Given the description of an element on the screen output the (x, y) to click on. 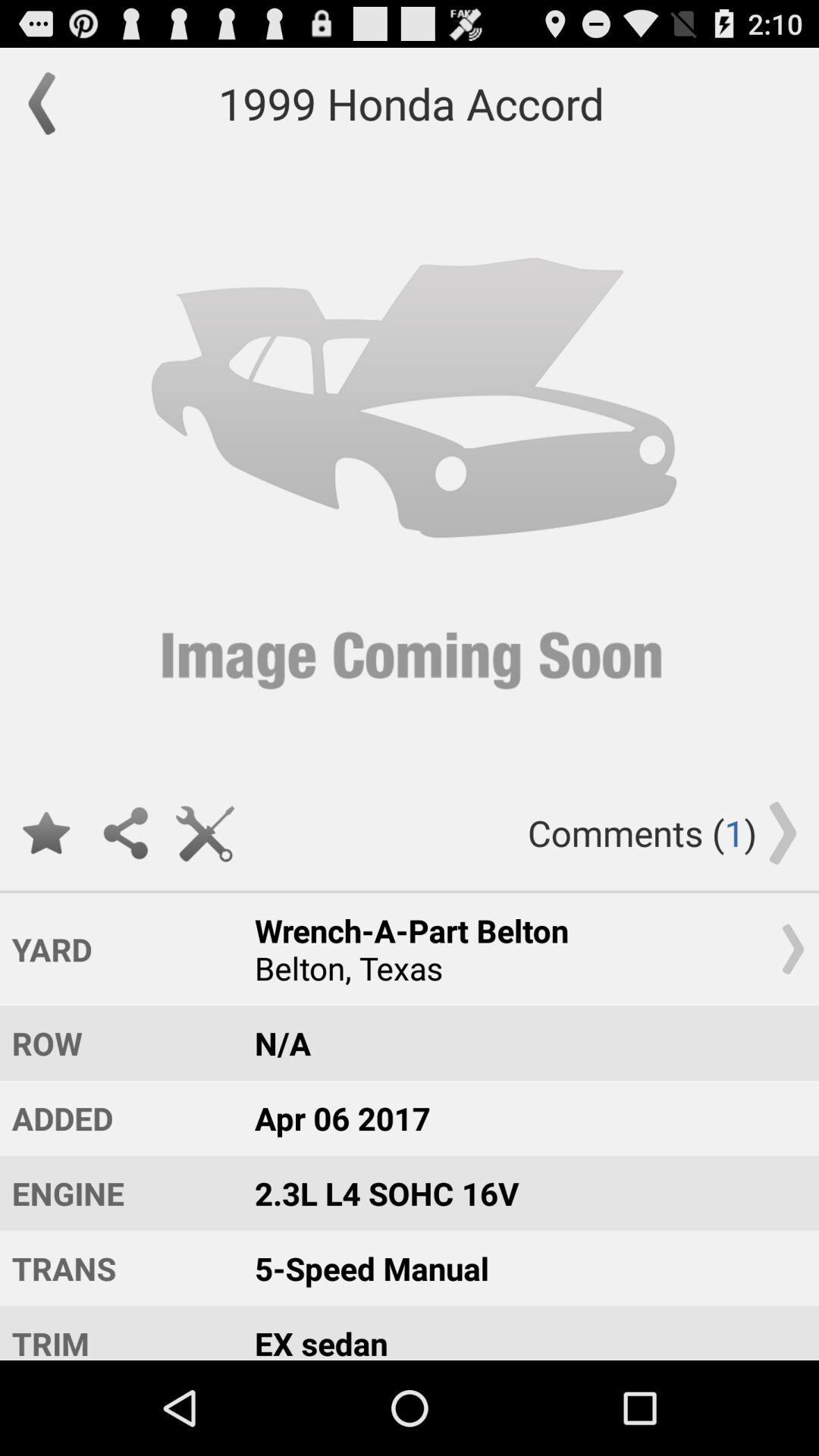
launch the 5-speed manual (522, 1267)
